Given the description of an element on the screen output the (x, y) to click on. 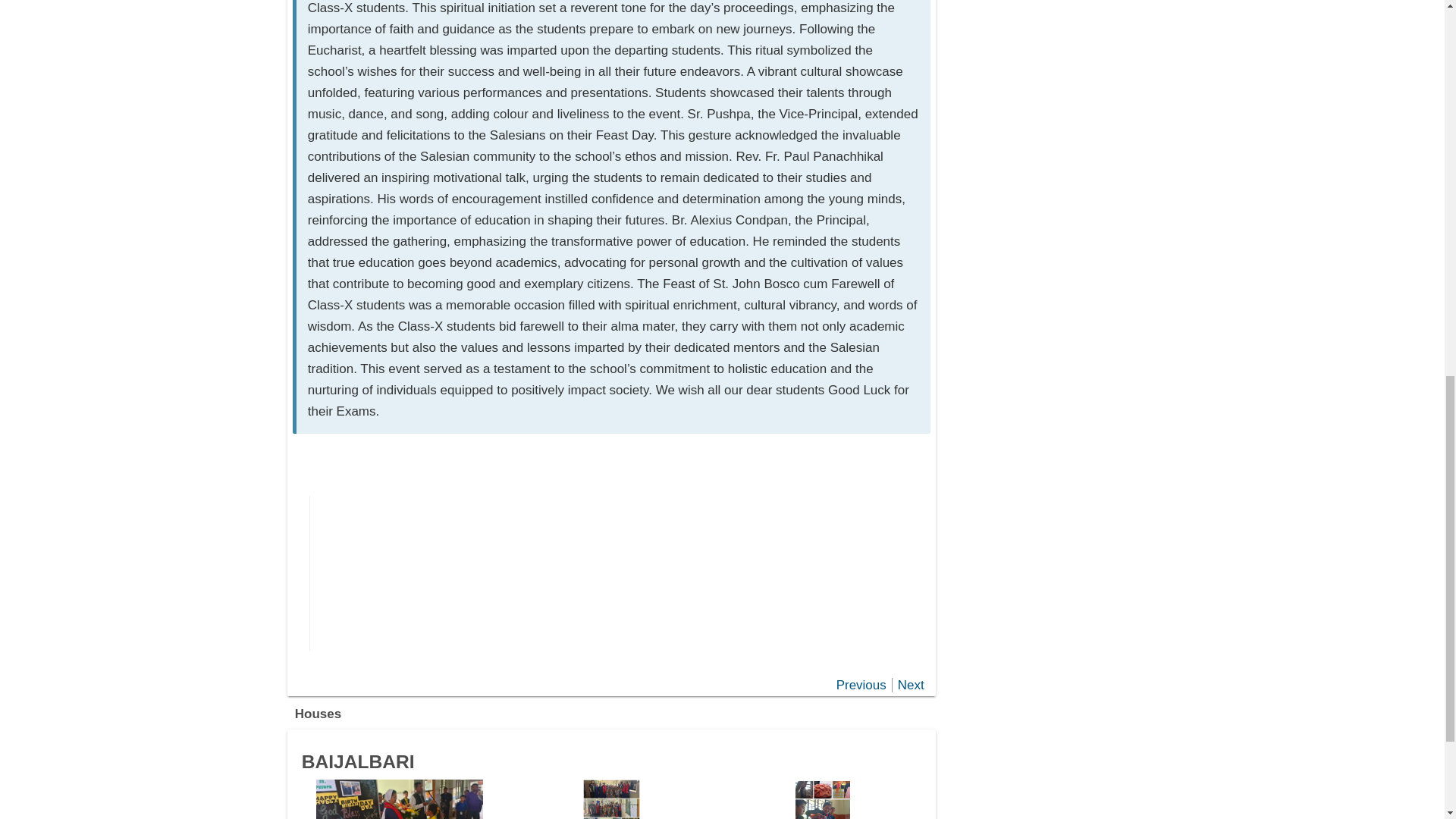
SCIENCE EXHIBITION HELD AT DON BOSCO SCHOOL BAIJALBARI (822, 799)
Vice-Principal Birthday Celebrated (399, 799)
